Given the description of an element on the screen output the (x, y) to click on. 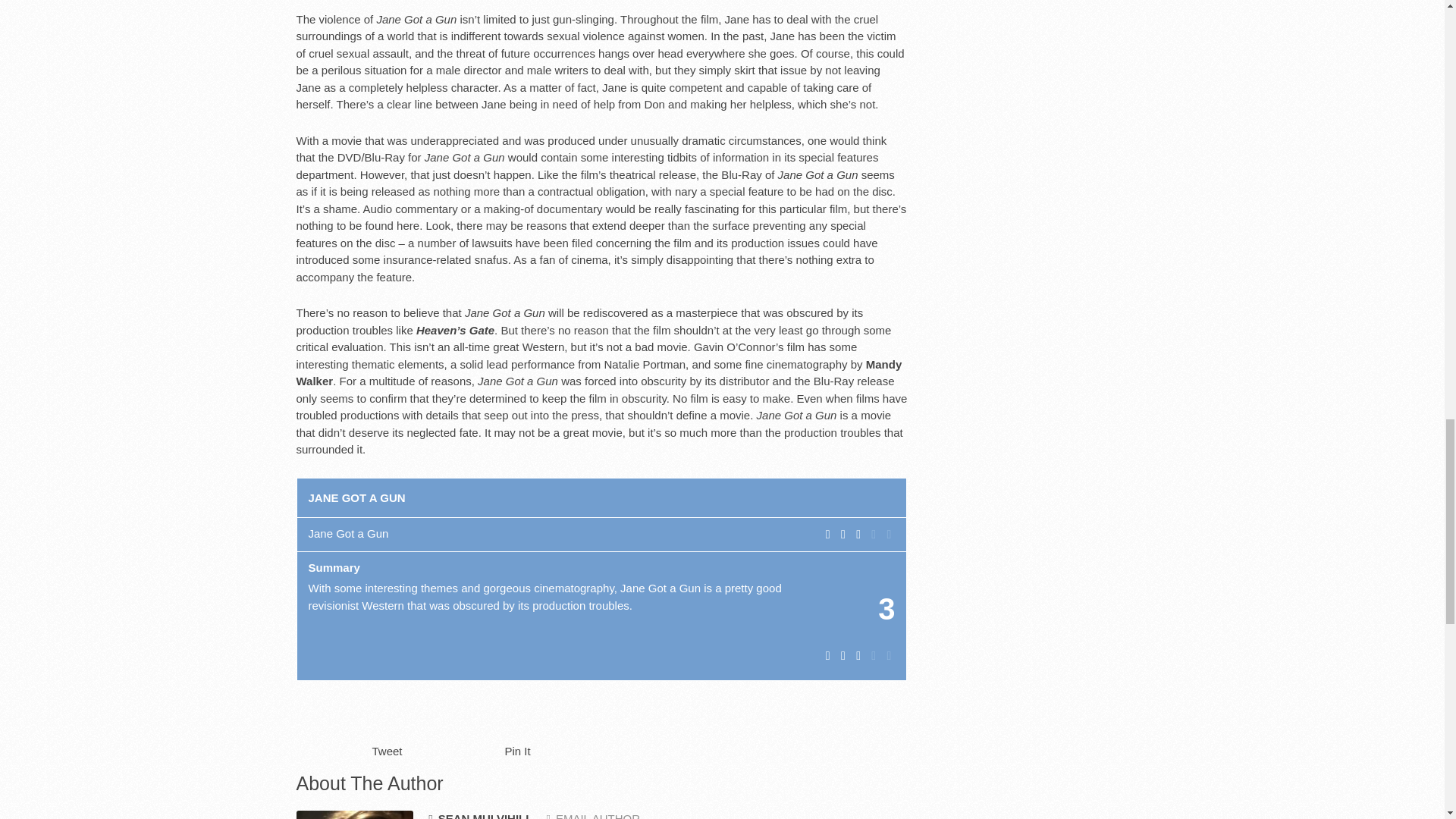
Tweet (386, 750)
EMAIL AUTHOR (593, 815)
Pin It (518, 750)
SEAN MULVIHILL (480, 814)
